Given the description of an element on the screen output the (x, y) to click on. 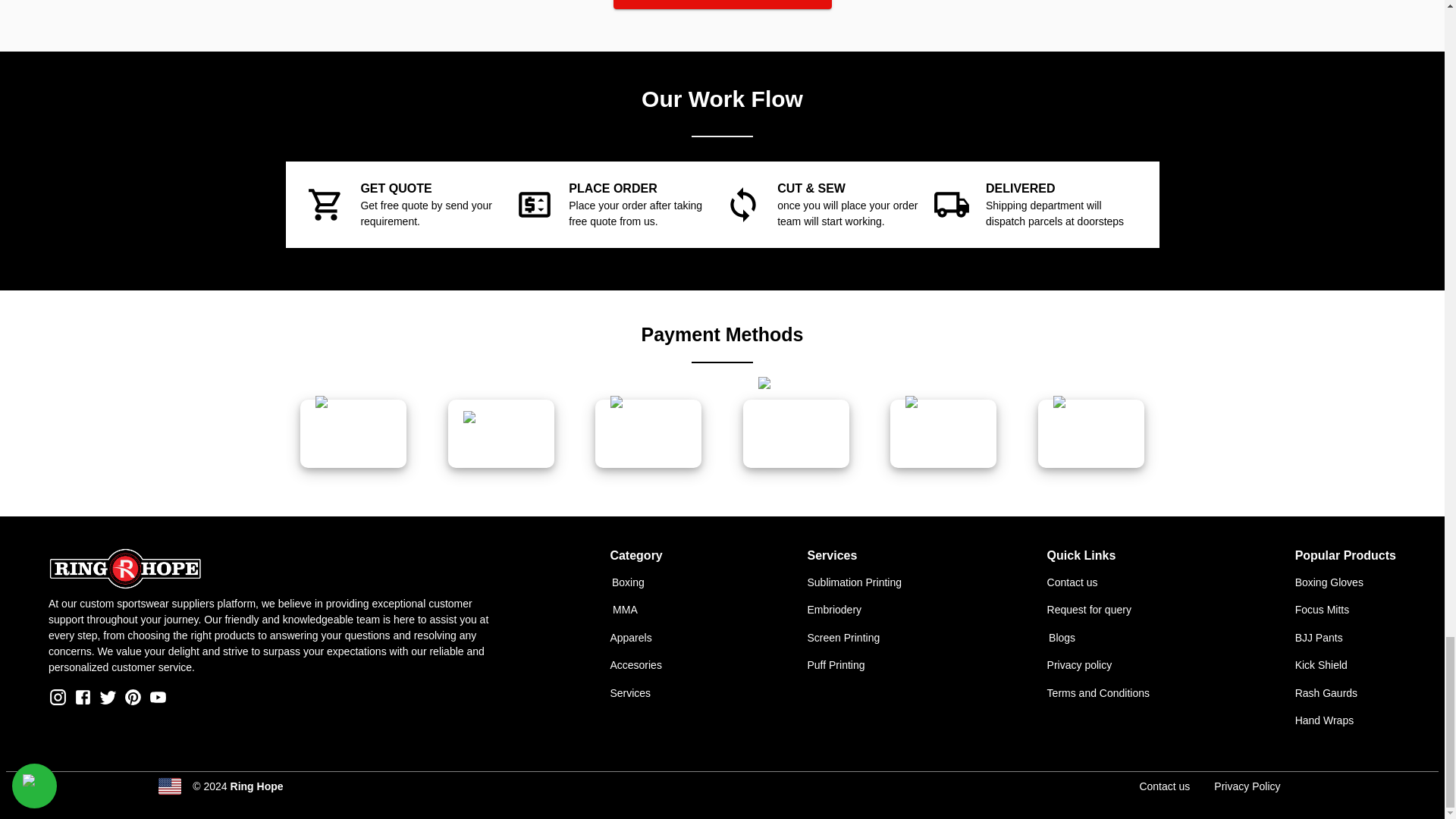
Boxing (628, 582)
Get Free Quotation (721, 4)
Boxing (638, 581)
MMA (624, 610)
Apparels (638, 637)
Accesories (638, 665)
MMA (638, 610)
Apparels (631, 637)
